Given the description of an element on the screen output the (x, y) to click on. 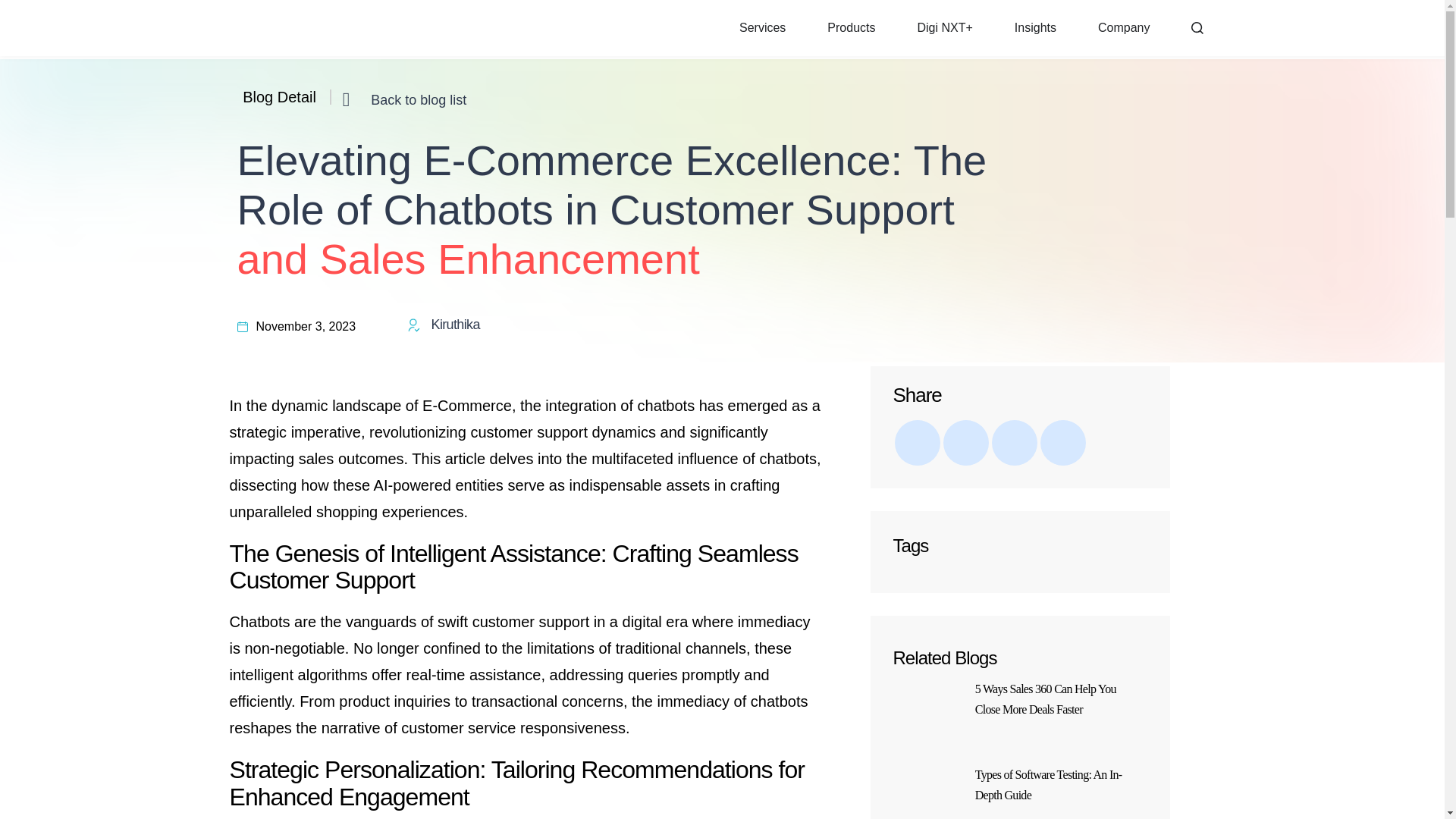
Share on Twitter (1013, 443)
Share on Whatsapp (1063, 443)
Share on LinkedIn (965, 443)
Share on Facebook (917, 443)
